Given the description of an element on the screen output the (x, y) to click on. 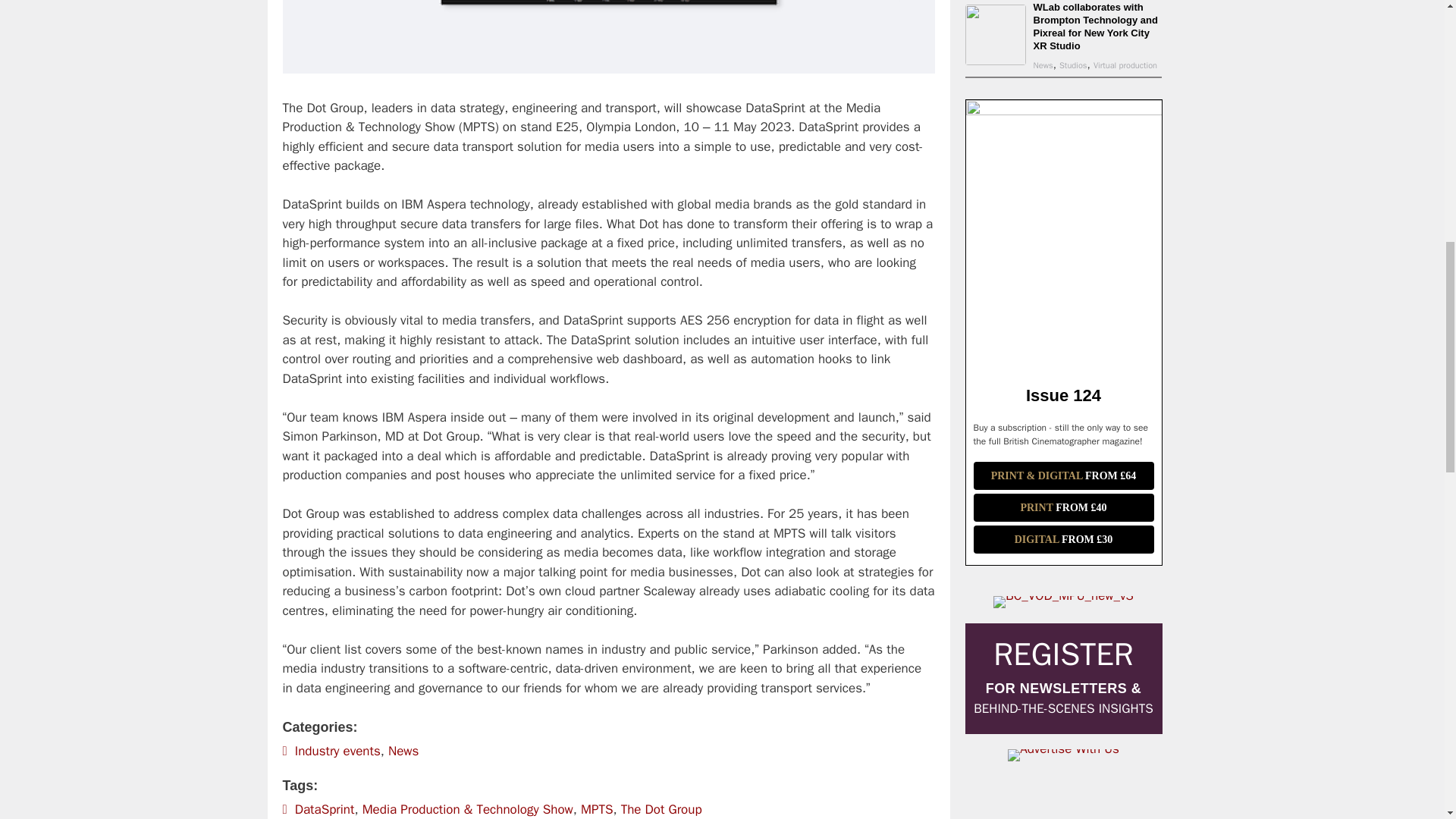
Issue 124 (1063, 110)
Issue 124 (1063, 394)
